Given the description of an element on the screen output the (x, y) to click on. 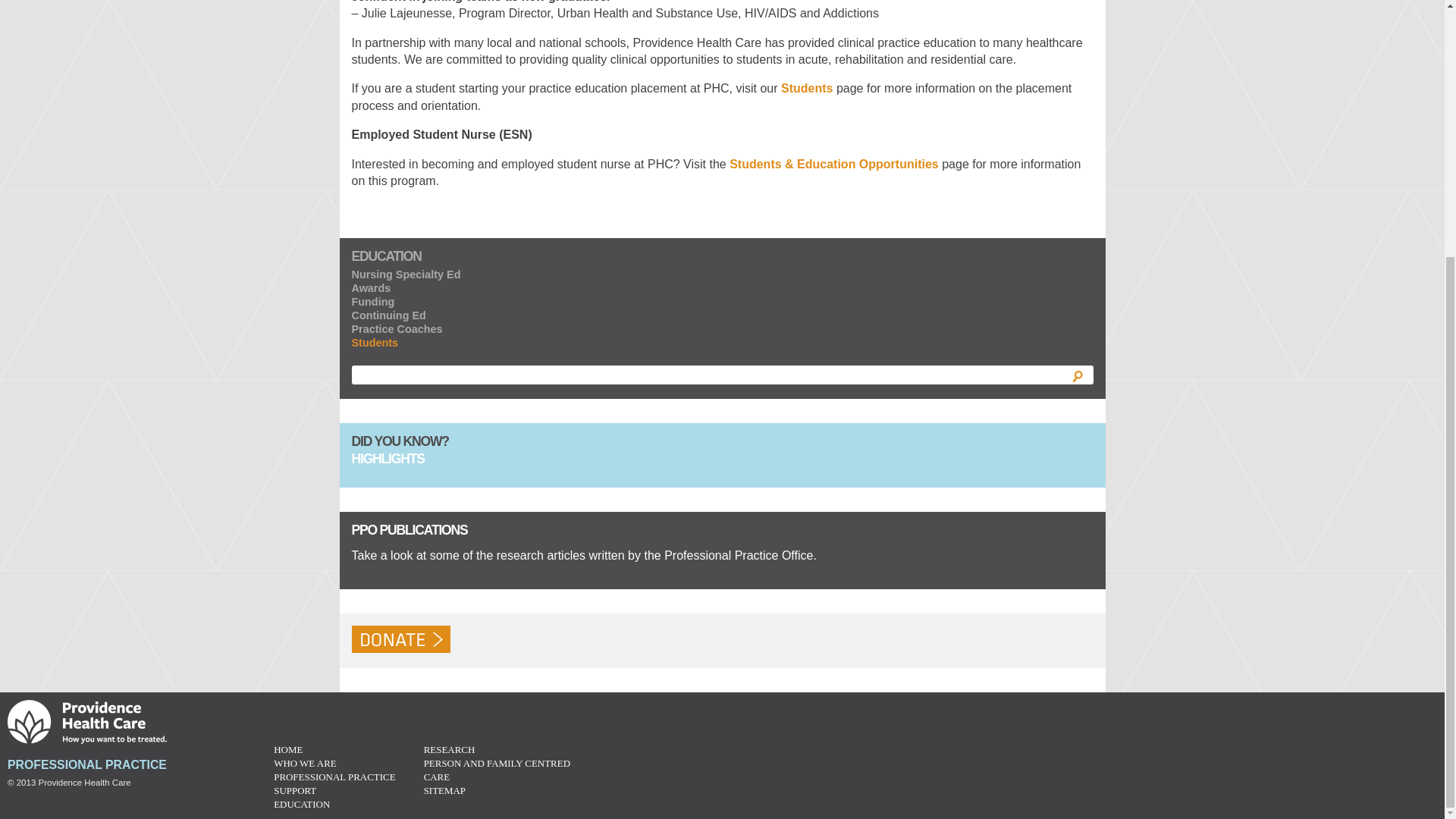
Search (1077, 376)
Enter the terms you wish to search for. (722, 374)
